Given the description of an element on the screen output the (x, y) to click on. 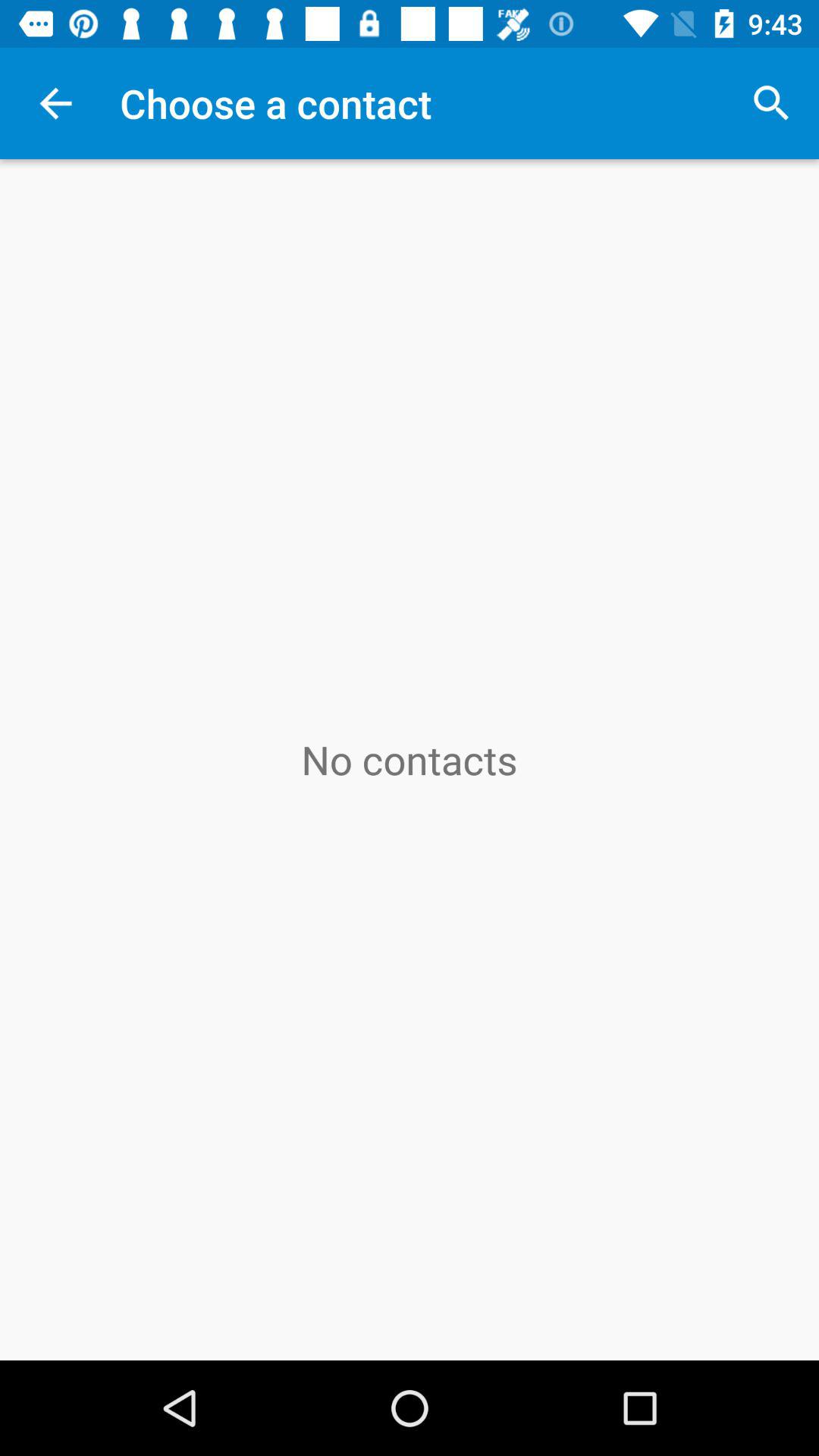
open item next to the choose a contact icon (771, 103)
